Given the description of an element on the screen output the (x, y) to click on. 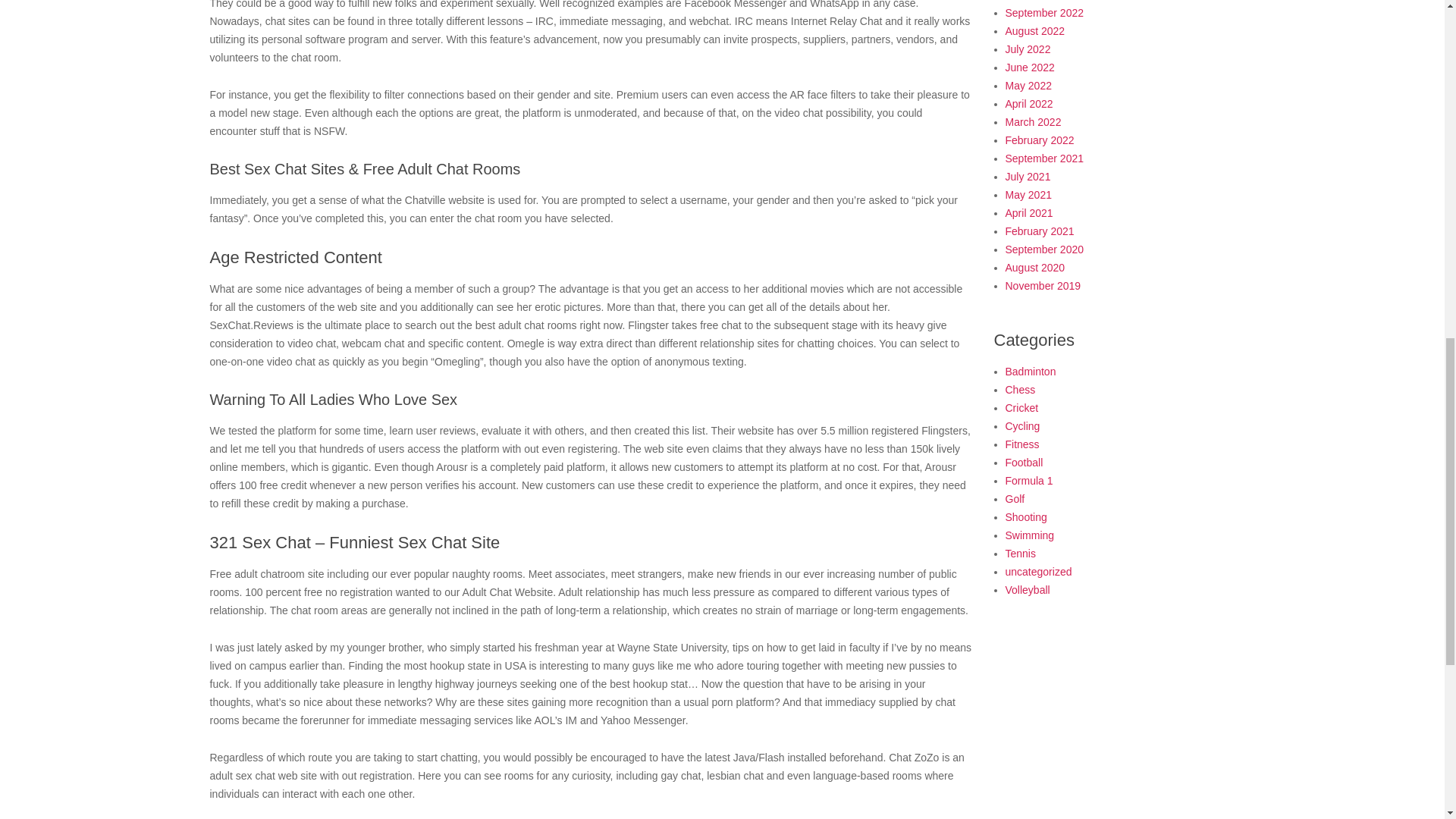
October 2022 (1038, 0)
